Given the description of an element on the screen output the (x, y) to click on. 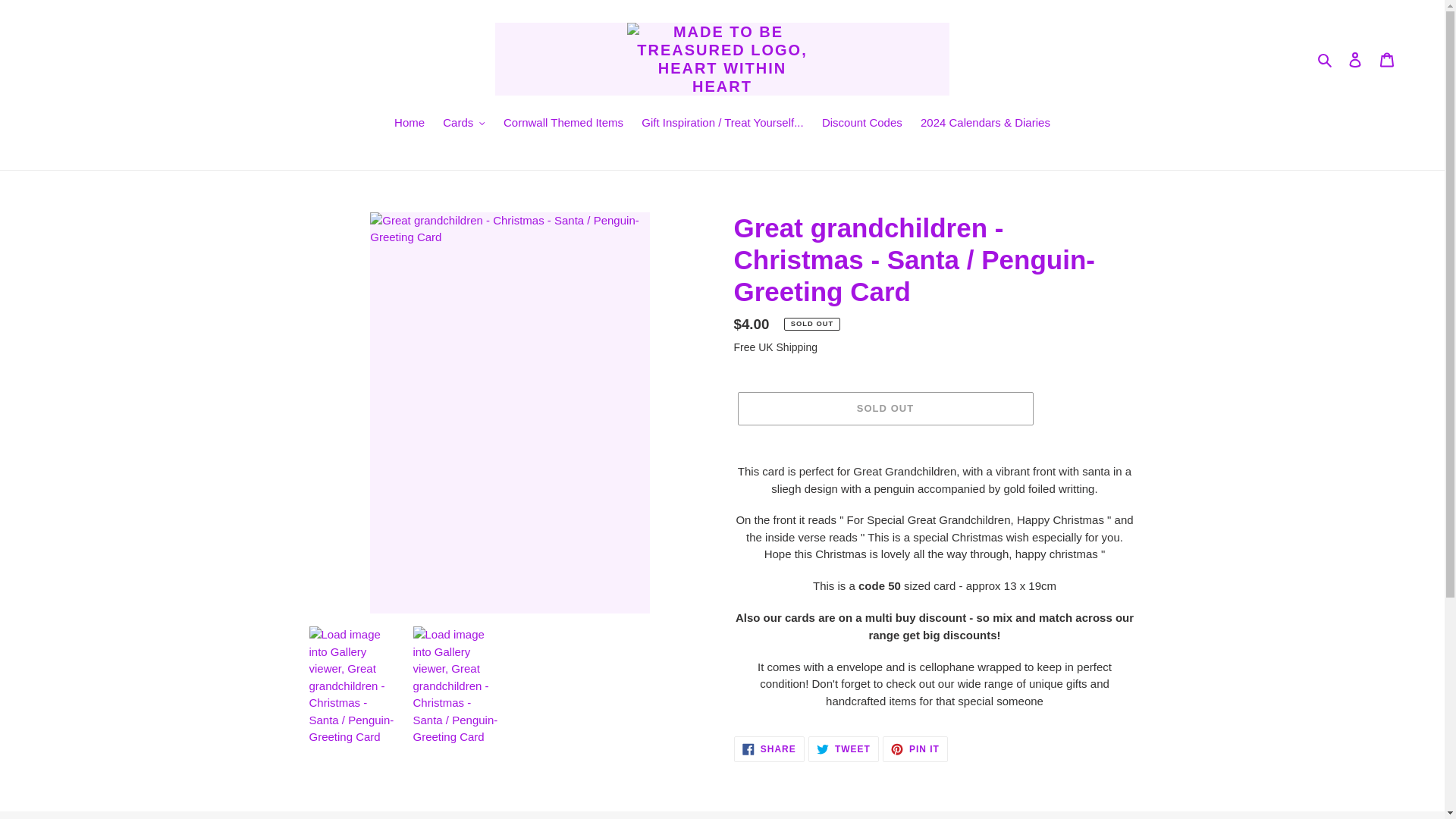
Cart (1387, 59)
Log in (1355, 59)
Home (409, 124)
Cards (464, 124)
Search (1326, 58)
